Given the description of an element on the screen output the (x, y) to click on. 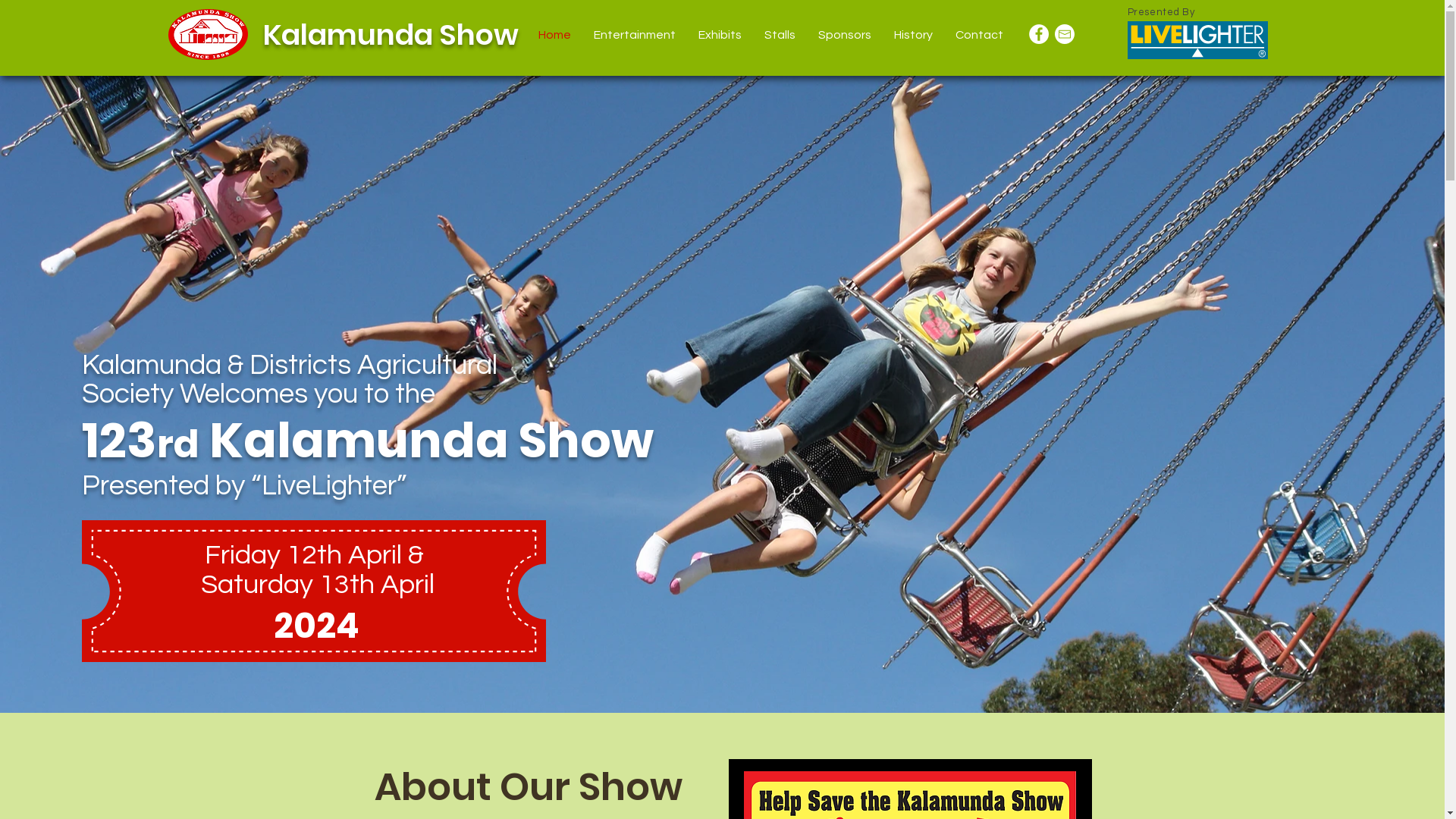
Home Element type: text (553, 34)
Contact Element type: text (978, 34)
Kalamunda & Districts Agricultural Society Element type: text (289, 379)
Stalls Element type: text (779, 34)
Sponsors Element type: text (844, 34)
Exhibits Element type: text (720, 34)
Kalamunda Show Element type: text (389, 34)
History Element type: text (913, 34)
